Given the description of an element on the screen output the (x, y) to click on. 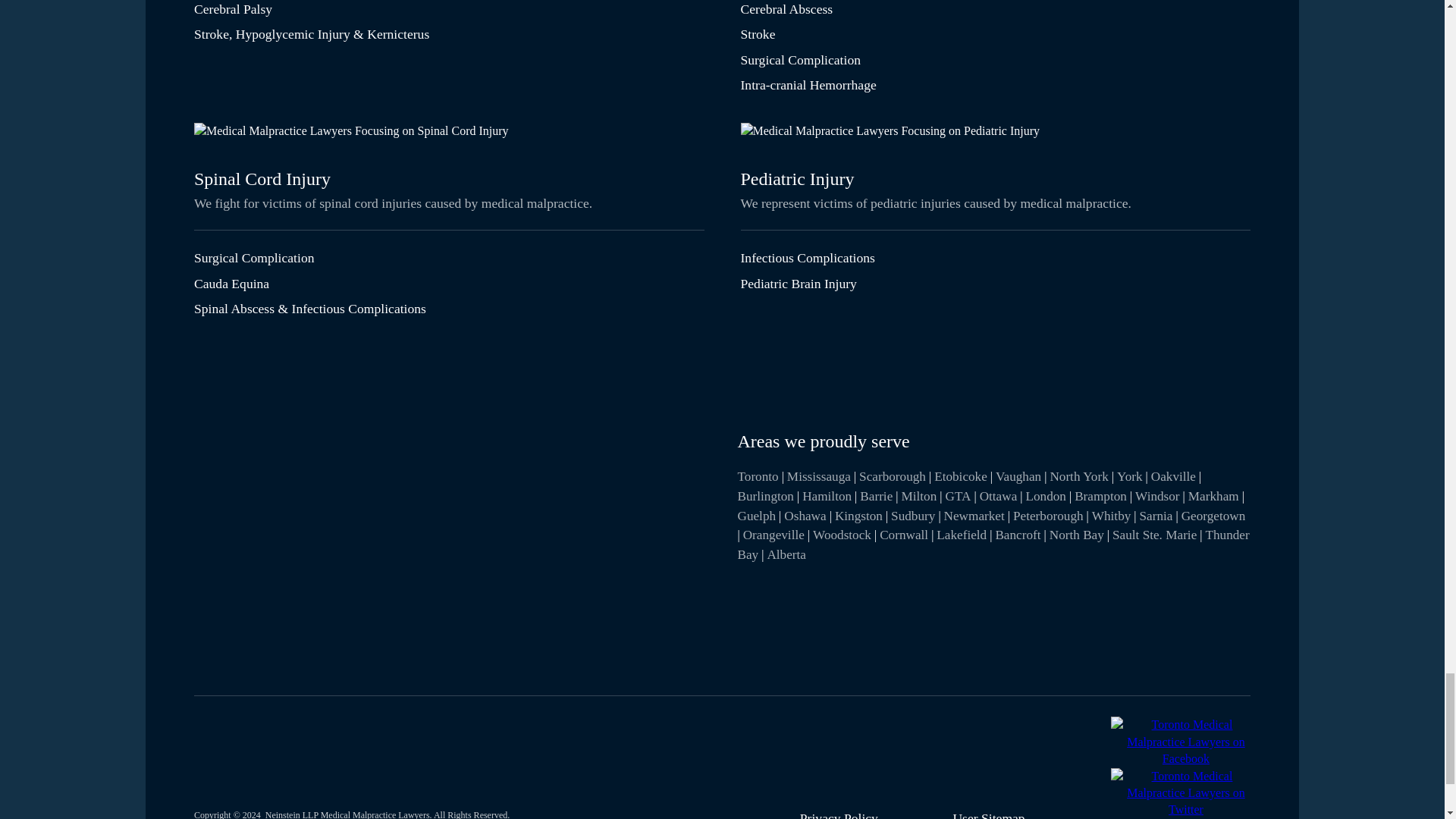
Medical Malpractice Lawyers on Facebook (1186, 758)
Medical Malpractice Lawyers on Twitter (1186, 809)
